Given the description of an element on the screen output the (x, y) to click on. 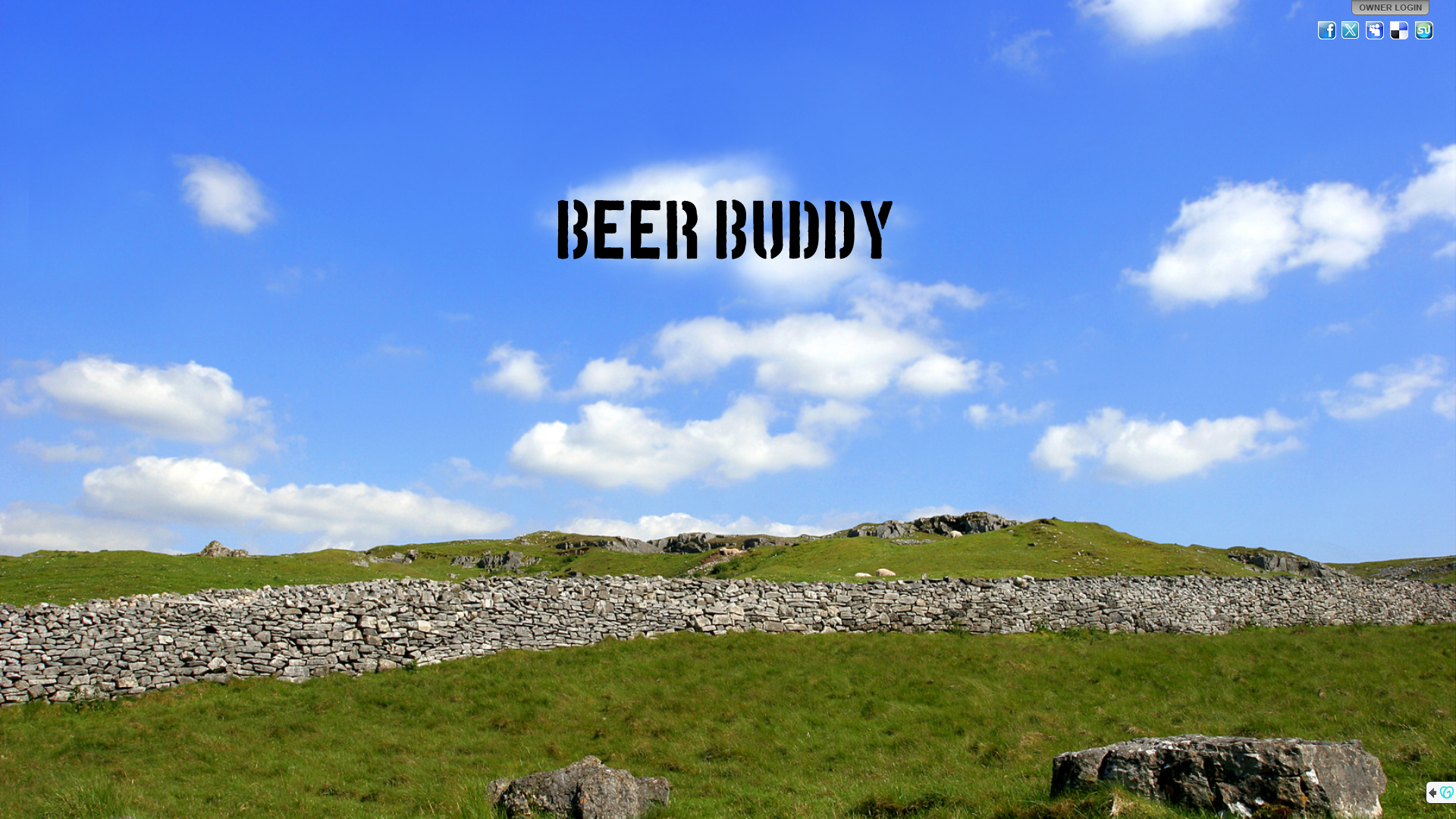
Facebook Element type: text (1326, 29)
StumbleUpon Element type: text (1423, 29)
MySpace Element type: text (1375, 29)
Twitter Element type: text (1350, 29)
Del.icio.us Element type: text (1399, 29)
